Given the description of an element on the screen output the (x, y) to click on. 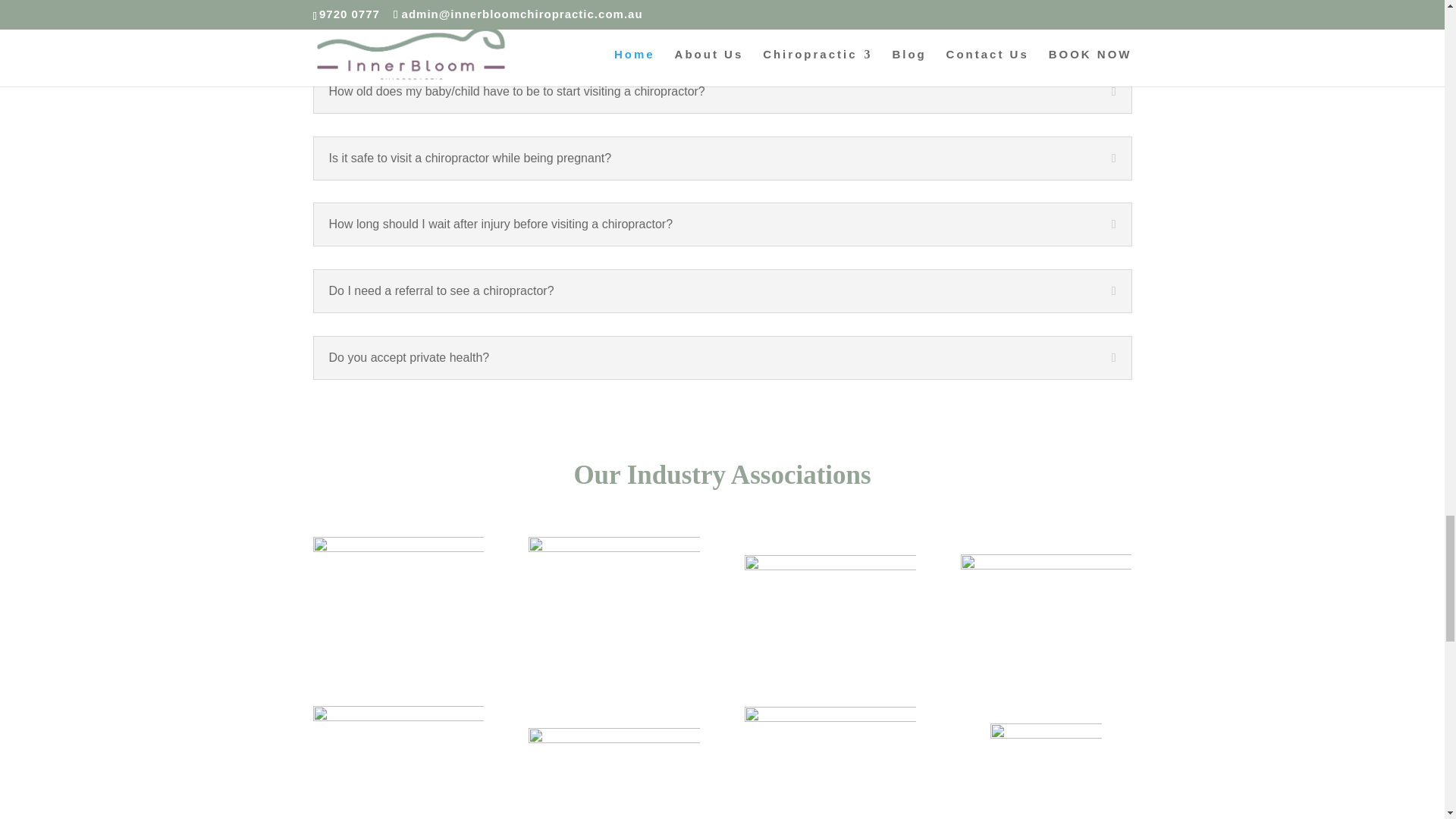
medicare-logo (1045, 576)
hicaps (829, 578)
TAC (613, 585)
HCF logo (829, 754)
medibank-logo (613, 753)
bupa (398, 753)
